Given the description of an element on the screen output the (x, y) to click on. 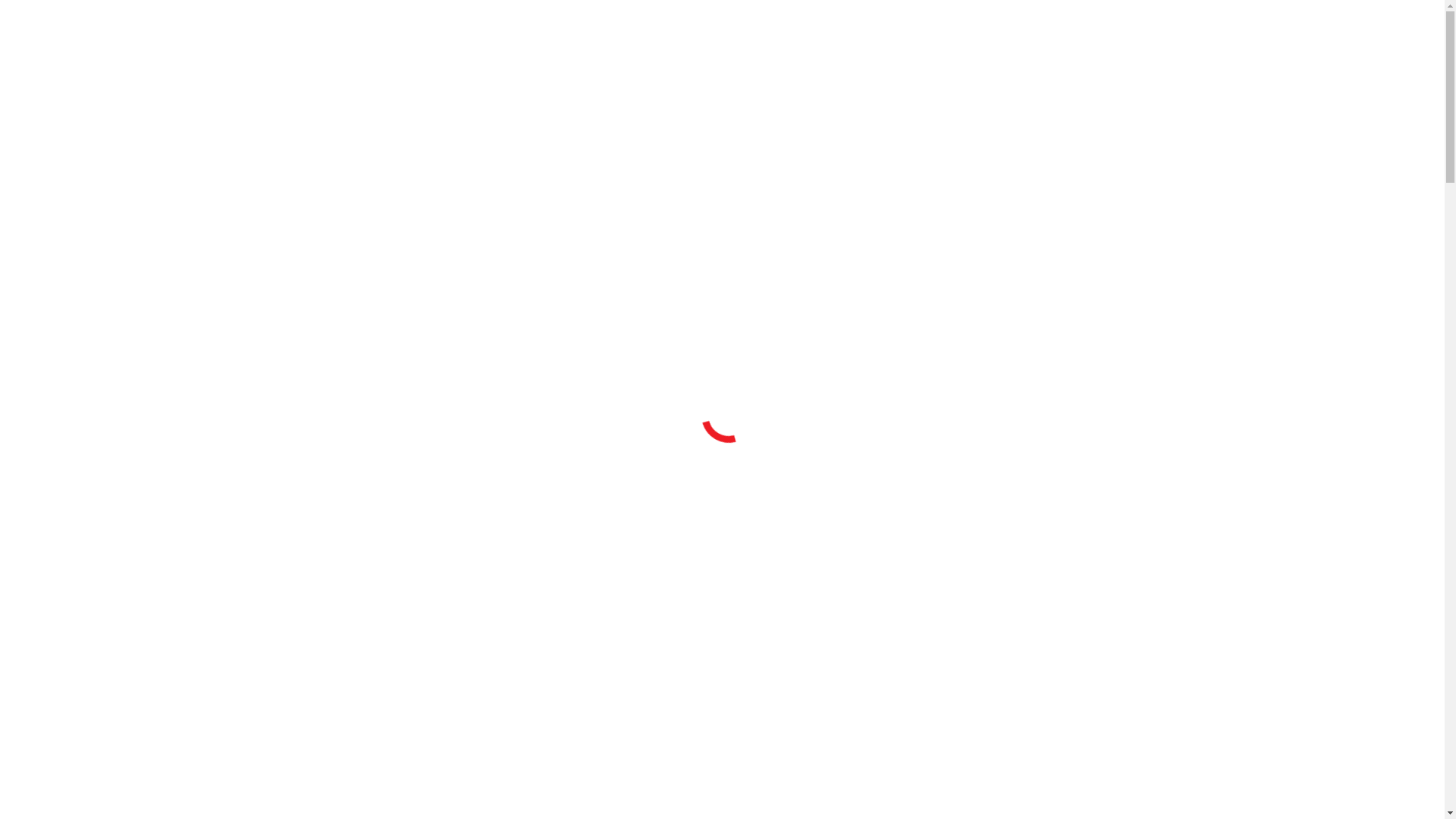
Los! Element type: text (197, 565)
Kommentar abschicken Element type: text (64, 537)
Autoankaufsformular Element type: text (88, 145)
Beitragskommentare Element type: text (176, 536)
Zum Inhalt springen Element type: text (55, 12)
Home Element type: text (50, 92)
Start Element type: text (47, 245)
Home Element type: text (50, 131)
Autoankaufsformular Element type: text (88, 106)
